Given the description of an element on the screen output the (x, y) to click on. 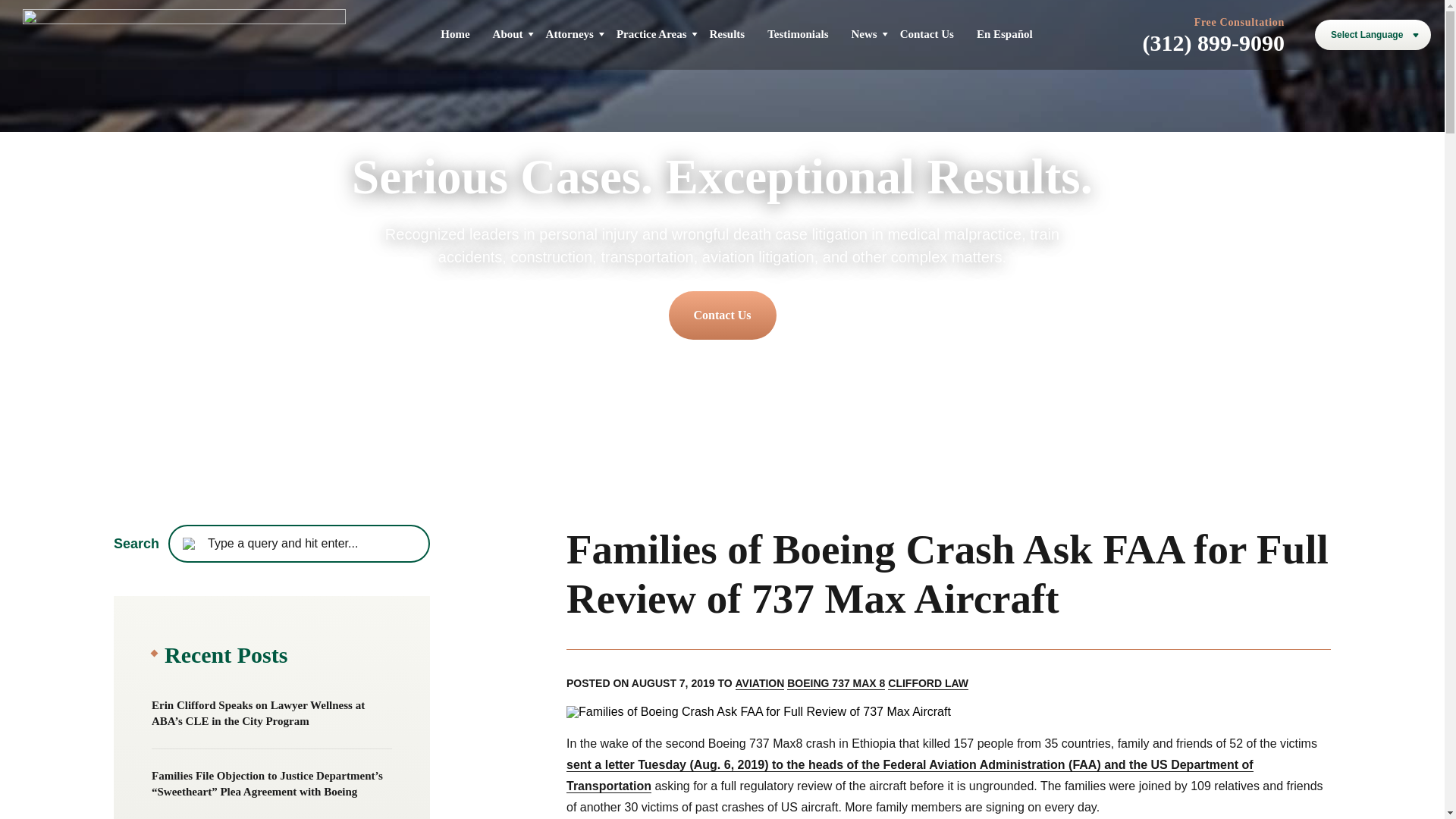
BOEING 737 MAX 8 (836, 683)
Contact Us (722, 315)
News (863, 33)
Testimonials (797, 33)
AVIATION (759, 683)
Contact Us (926, 33)
Practice Areas (651, 33)
Results (727, 33)
Attorneys (570, 33)
Home (454, 33)
About (507, 33)
